Given the description of an element on the screen output the (x, y) to click on. 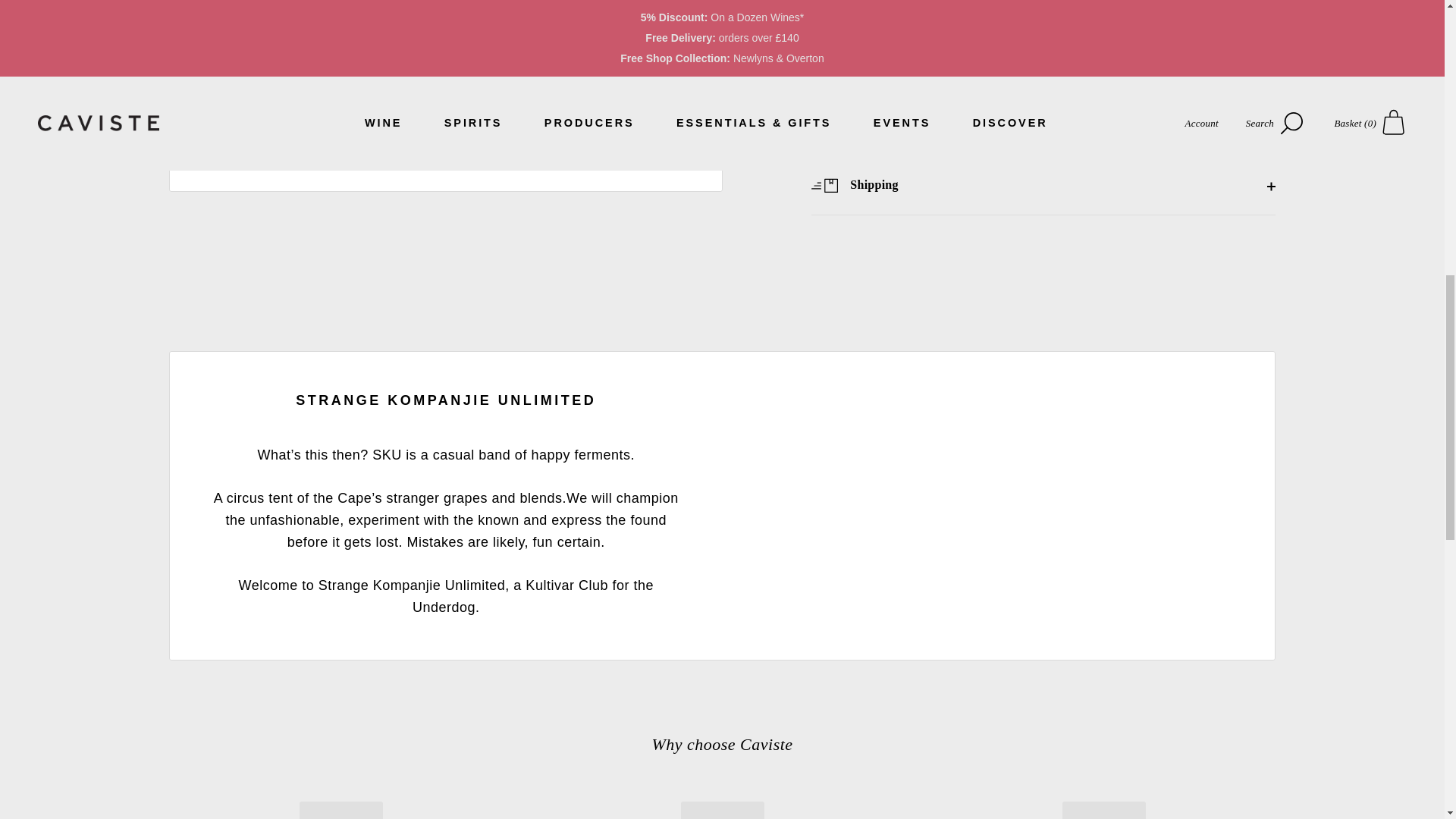
1 (859, 4)
